Given the description of an element on the screen output the (x, y) to click on. 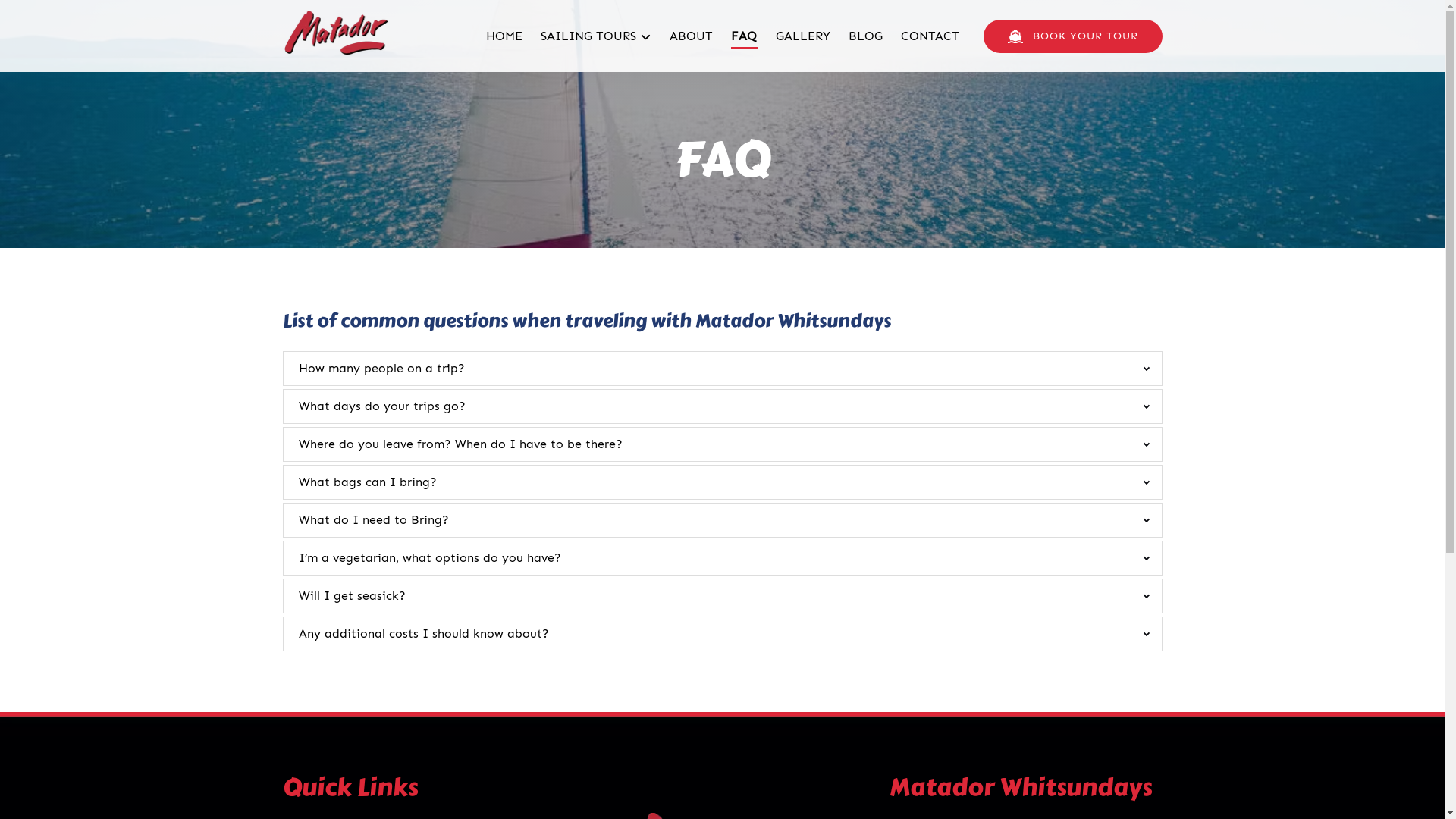
CRUISE SHIP BOOK YOUR TOUR Element type: text (1071, 36)
What bags can I bring? Element type: text (367, 481)
Any additional costs I should know about? Element type: text (423, 633)
Will I get seasick? Element type: text (351, 595)
GALLERY Element type: text (801, 36)
Skip to primary navigation Element type: text (85, 16)
ABOUT Element type: text (690, 36)
SAILING TOURS Element type: text (595, 36)
FAQ Element type: text (743, 36)
Skip to content Element type: text (52, 16)
BLOG Element type: text (864, 36)
HOME Element type: text (503, 36)
How many people on a trip? Element type: text (381, 367)
Skip to footer Element type: text (47, 16)
What days do your trips go? Element type: text (381, 405)
CONTACT Element type: text (929, 36)
Where do you leave from? When do I have to be there? Element type: text (460, 443)
What do I need to Bring? Element type: text (373, 519)
